Given the description of an element on the screen output the (x, y) to click on. 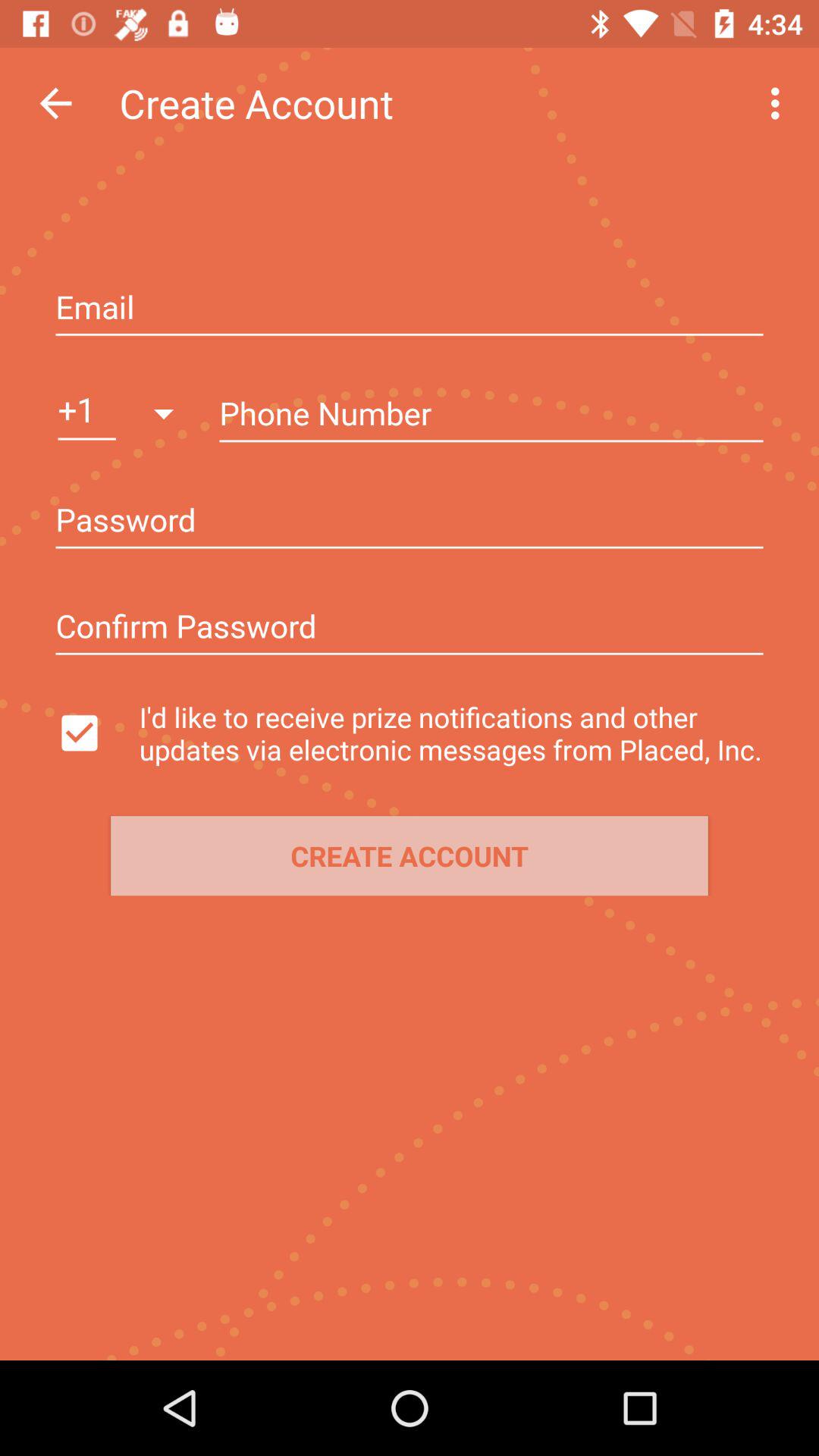
box for entering phone number (491, 415)
